Given the description of an element on the screen output the (x, y) to click on. 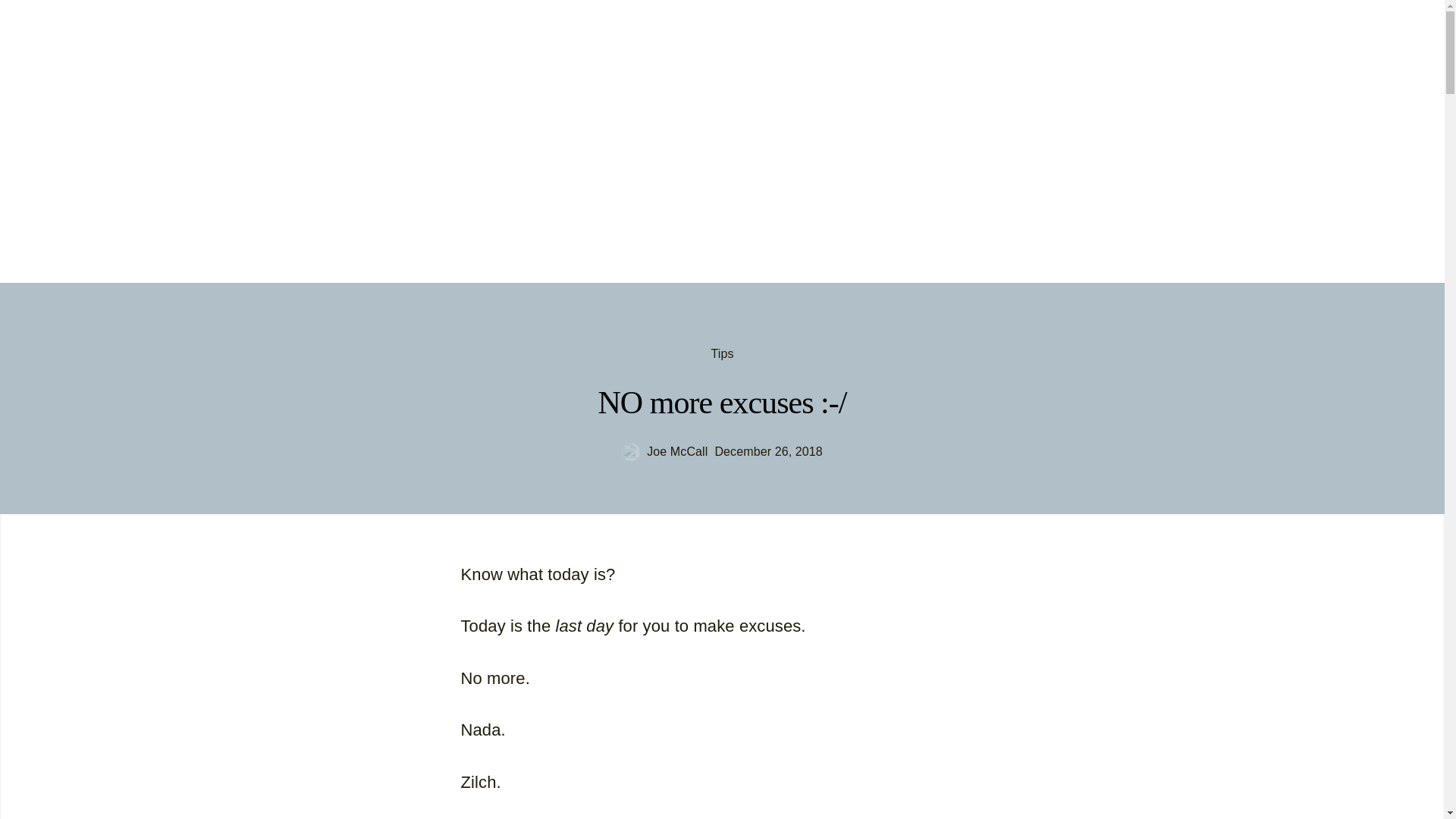
Joe McCall (105, 48)
December 26, 2018 (768, 451)
Joe McCall (664, 451)
Tips (721, 354)
